Given the description of an element on the screen output the (x, y) to click on. 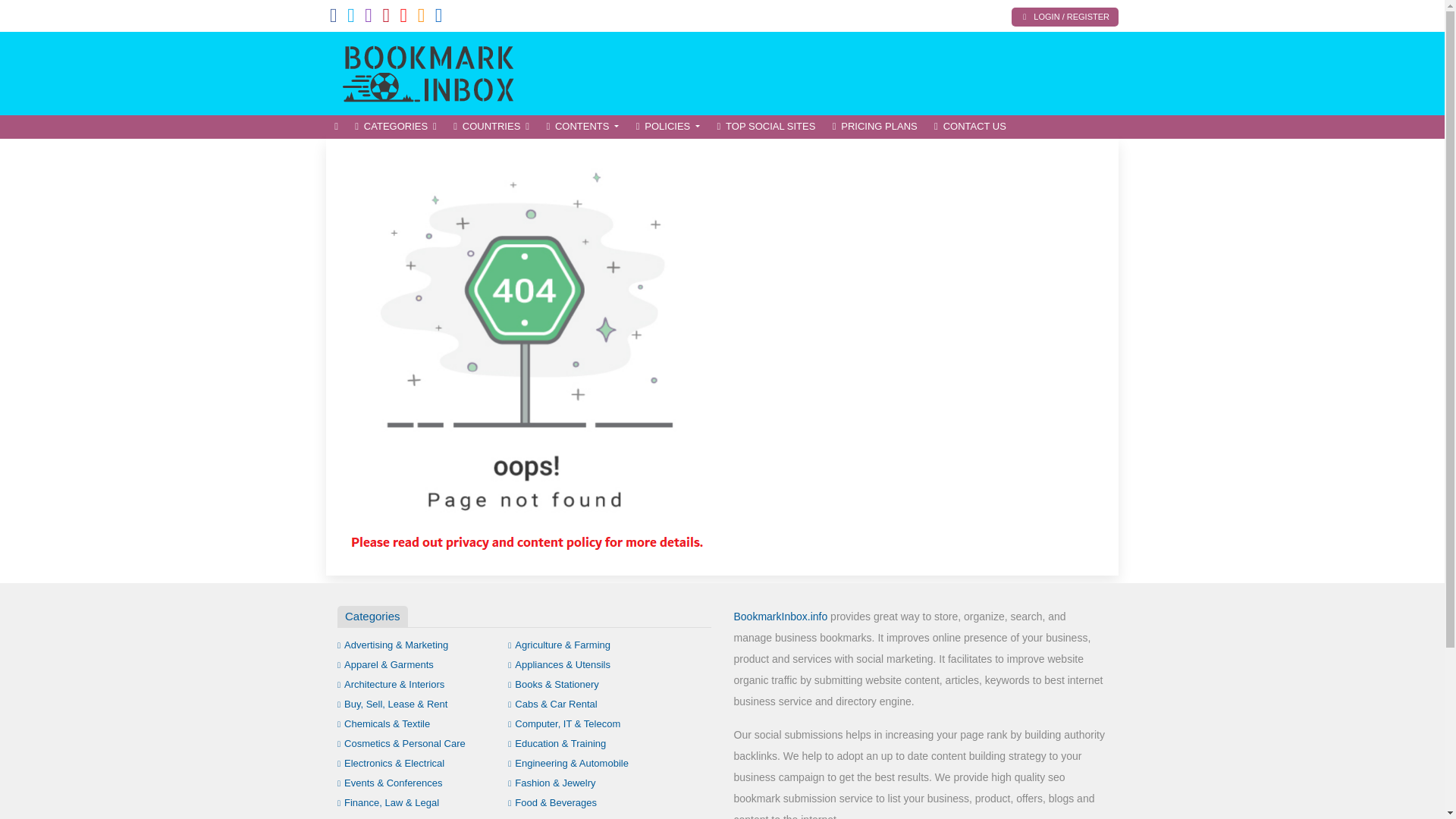
CATEGORIES (395, 126)
COUNTRIES (491, 126)
